Given the description of an element on the screen output the (x, y) to click on. 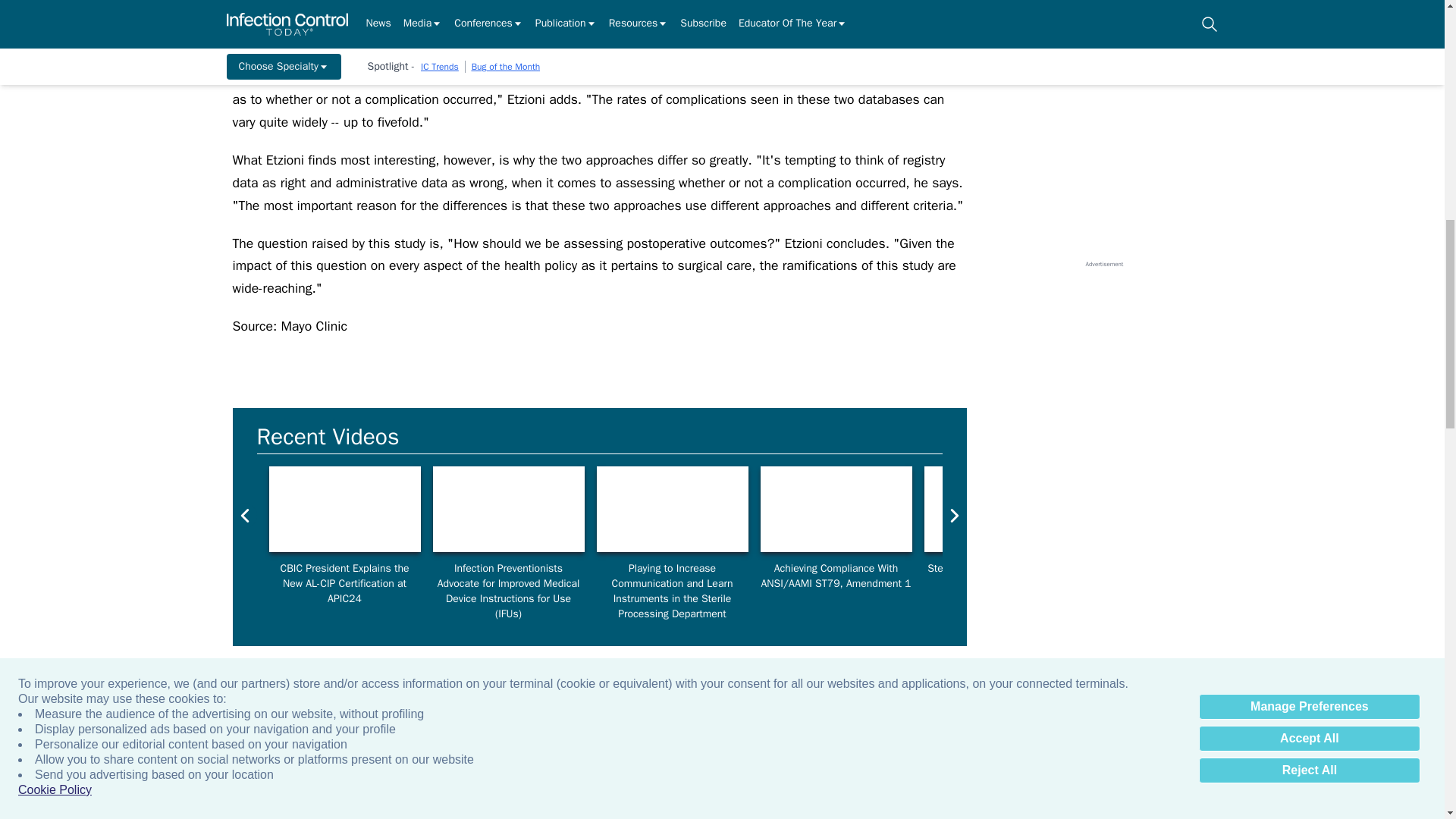
Jill Holdsworth, MS, CIC, FAPIC, CRCST, NREMT, CHL (835, 509)
